Given the description of an element on the screen output the (x, y) to click on. 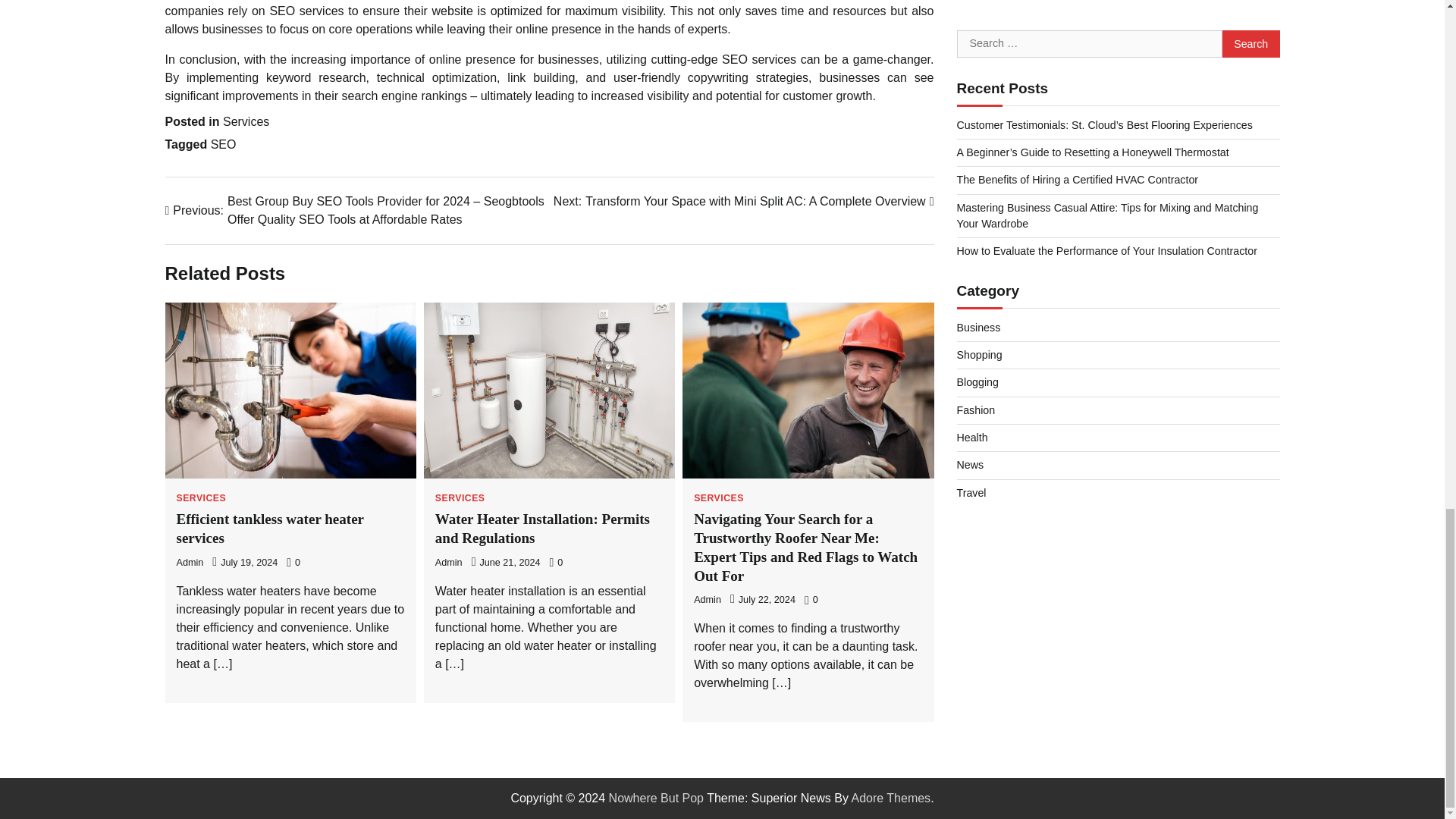
SERVICES (459, 497)
SEO (223, 144)
Efficient tankless water heater services (270, 528)
Admin (449, 562)
Services (245, 121)
Water Heater Installation: Permits and Regulations (542, 528)
Admin (707, 599)
SERVICES (200, 497)
Admin (189, 562)
SERVICES (719, 497)
